Given the description of an element on the screen output the (x, y) to click on. 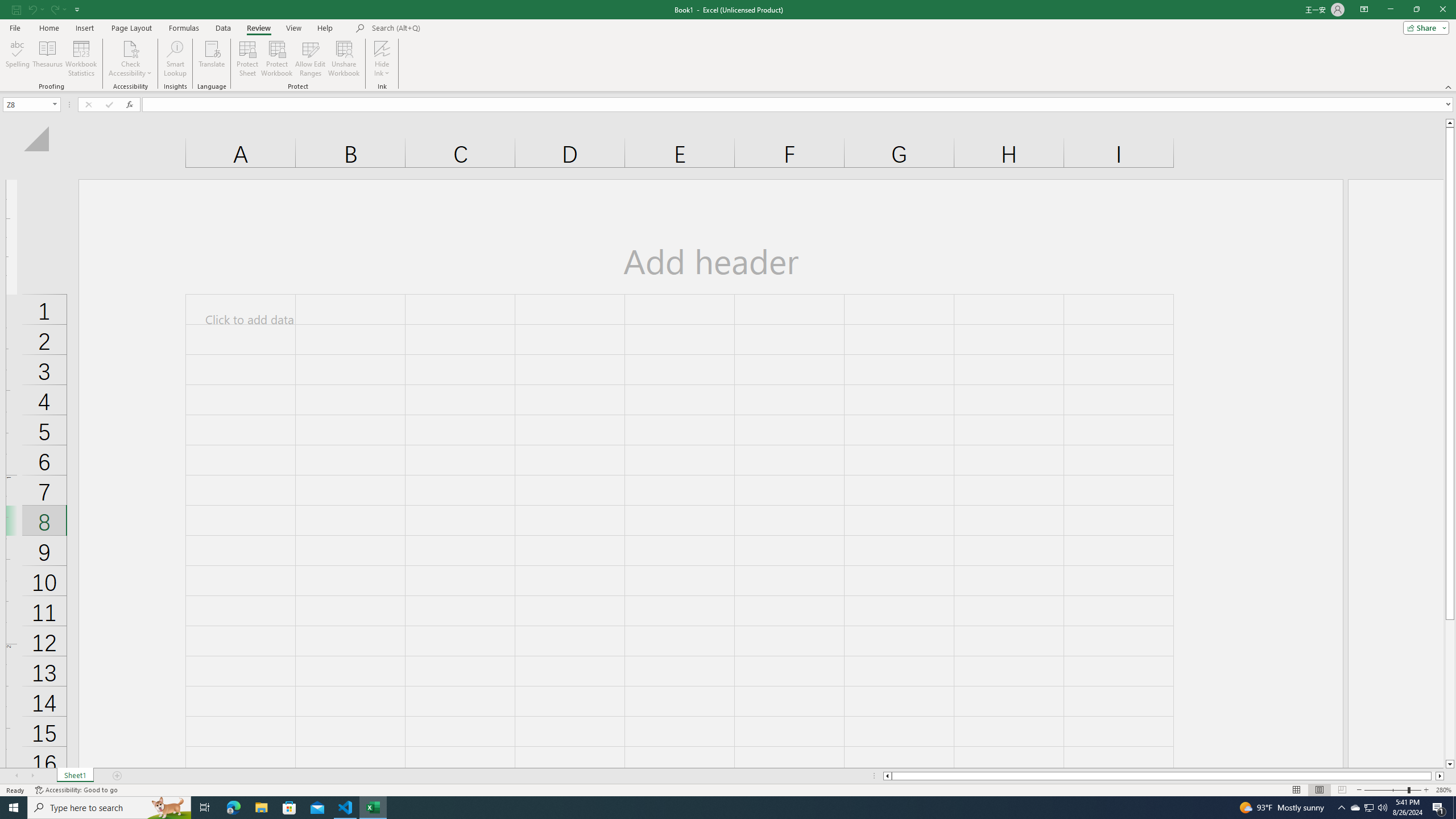
Check Accessibility (129, 58)
Line up (1449, 122)
Name Box (27, 104)
Scroll Left (16, 775)
Page Break Preview (1342, 790)
Page Layout (1318, 790)
System (6, 6)
Sheet1 (74, 775)
Smart Lookup (175, 58)
Spelling... (17, 58)
Formulas (184, 28)
Zoom In (1426, 790)
Save (16, 9)
Translate (211, 58)
Workbook Statistics (81, 58)
